Given the description of an element on the screen output the (x, y) to click on. 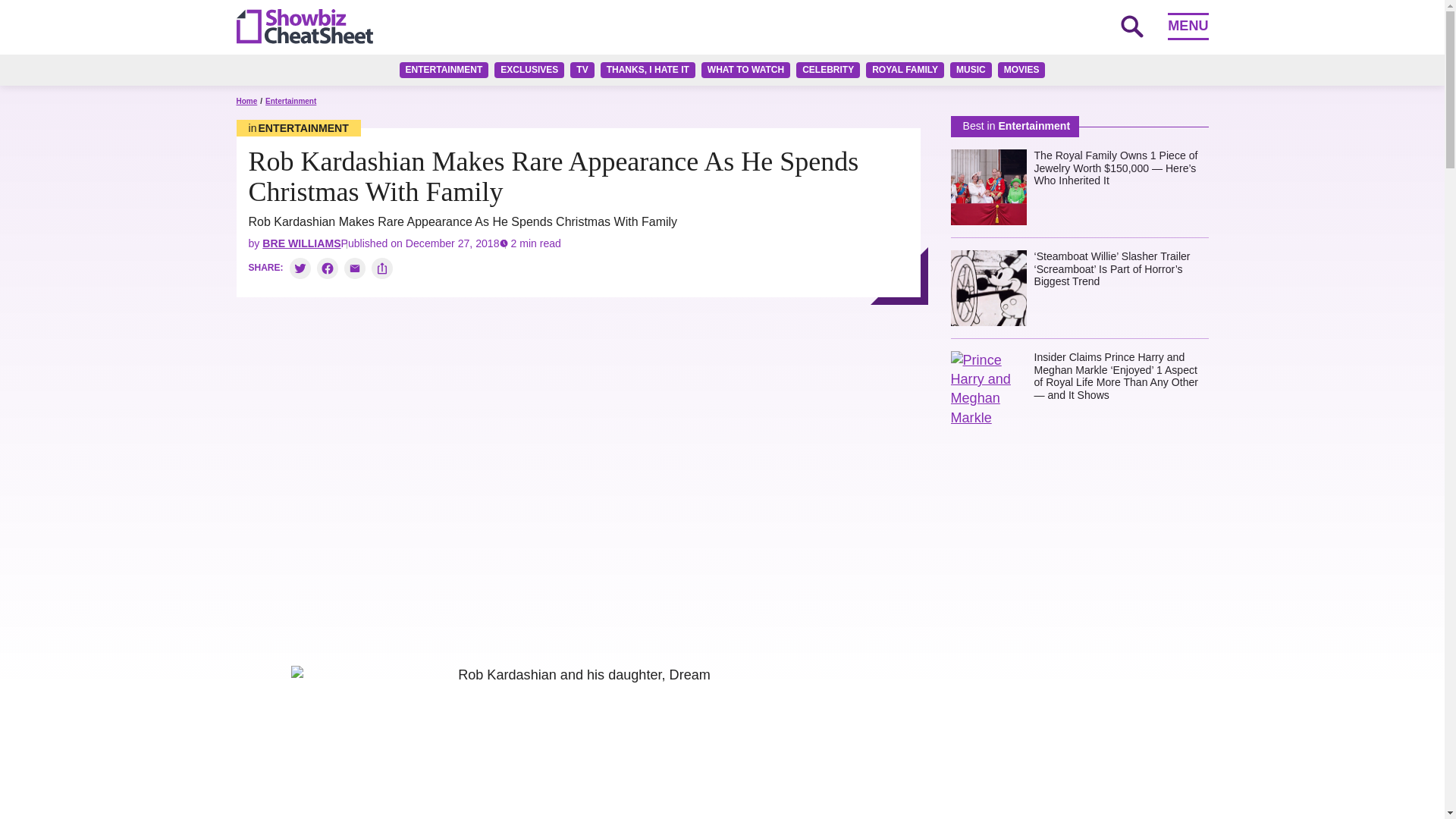
Entertainment (289, 101)
ROYAL FAMILY (904, 69)
Share on Twitter: (300, 268)
Share via email: (354, 268)
MOVIES (1021, 69)
Home (246, 101)
ENTERTAINMENT (443, 69)
Expand Search (1131, 26)
MUSIC (970, 69)
